Given the description of an element on the screen output the (x, y) to click on. 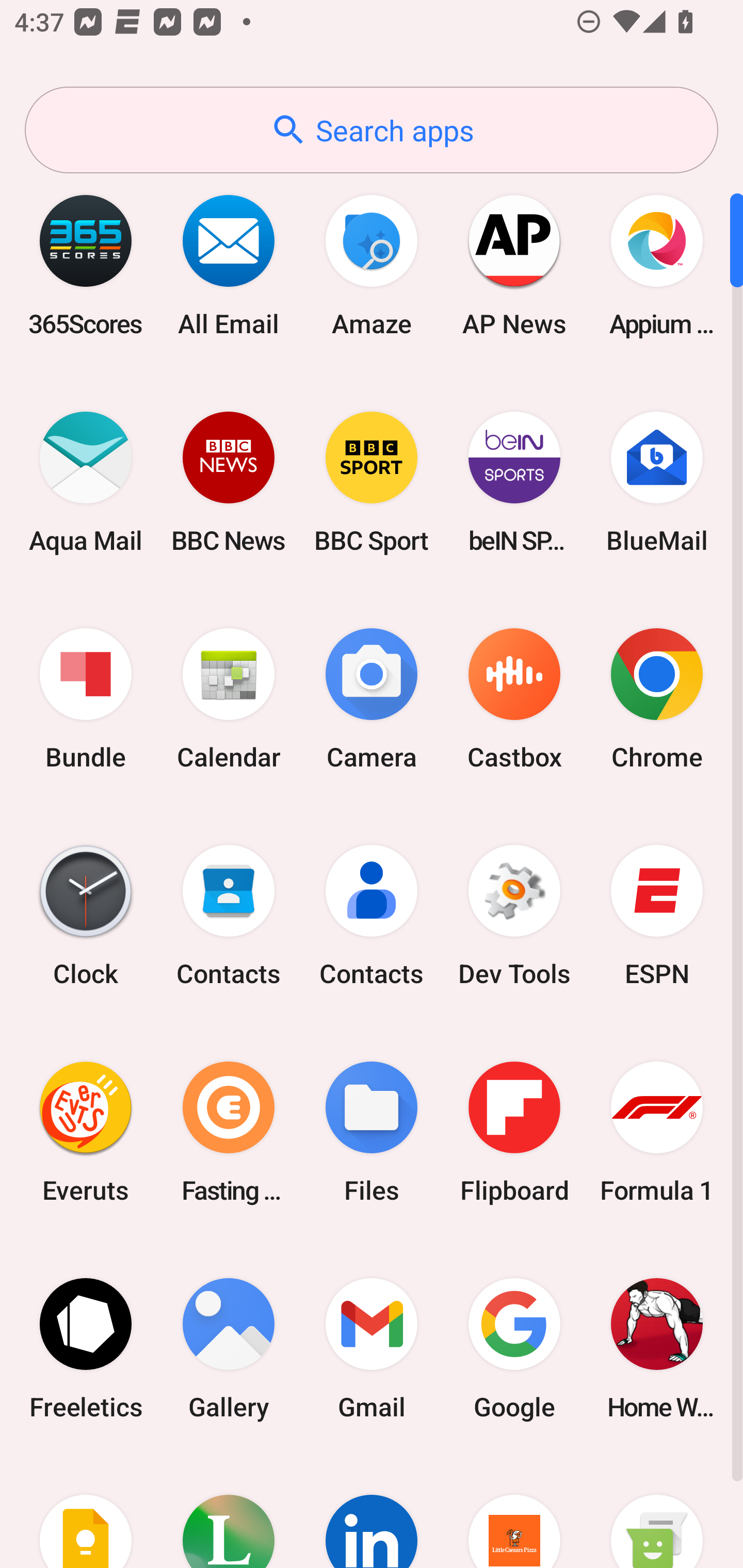
  Search apps (371, 130)
365Scores (85, 264)
All Email (228, 264)
Amaze (371, 264)
AP News (514, 264)
Appium Settings (656, 264)
Aqua Mail (85, 482)
BBC News (228, 482)
BBC Sport (371, 482)
beIN SPORTS (514, 482)
BlueMail (656, 482)
Bundle (85, 699)
Calendar (228, 699)
Camera (371, 699)
Castbox (514, 699)
Chrome (656, 699)
Clock (85, 915)
Contacts (228, 915)
Contacts (371, 915)
Dev Tools (514, 915)
ESPN (656, 915)
Everuts (85, 1131)
Fasting Coach (228, 1131)
Files (371, 1131)
Flipboard (514, 1131)
Formula 1 (656, 1131)
Freeletics (85, 1348)
Gallery (228, 1348)
Gmail (371, 1348)
Google (514, 1348)
Home Workout (656, 1348)
Keep Notes (85, 1512)
Lifesum (228, 1512)
LinkedIn (371, 1512)
Little Caesars Pizza (514, 1512)
Messaging (656, 1512)
